Given the description of an element on the screen output the (x, y) to click on. 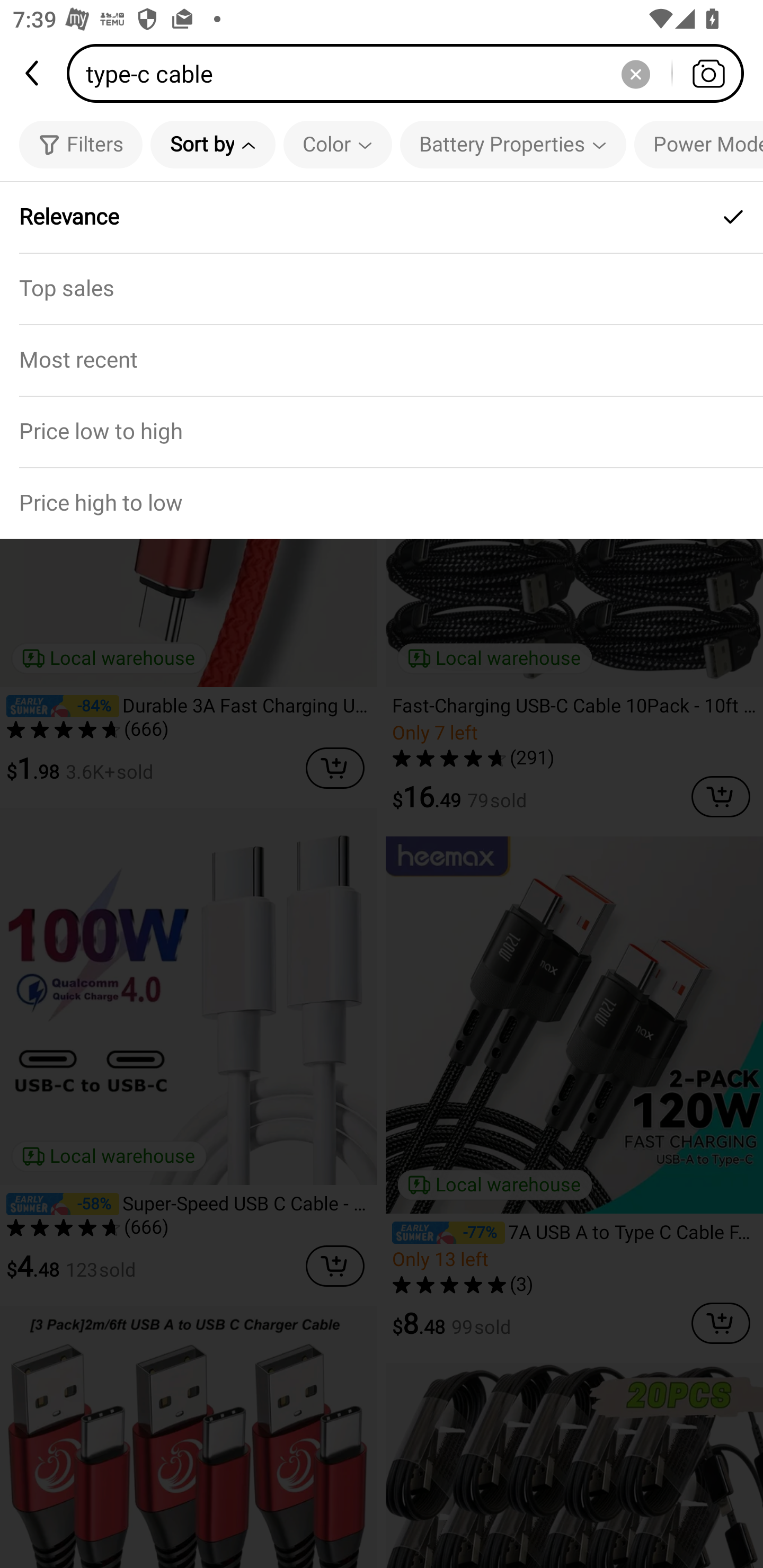
back (33, 72)
type-c cable (411, 73)
Delete search history (635, 73)
Search by photo (708, 73)
Filters (80, 143)
Sort by (212, 143)
Color (337, 143)
Battery Properties (512, 143)
Power Mode (698, 143)
Relevance (381, 216)
Top sales (381, 288)
Most recent (381, 359)
Price low to high (381, 431)
Price high to low (381, 503)
